Given the description of an element on the screen output the (x, y) to click on. 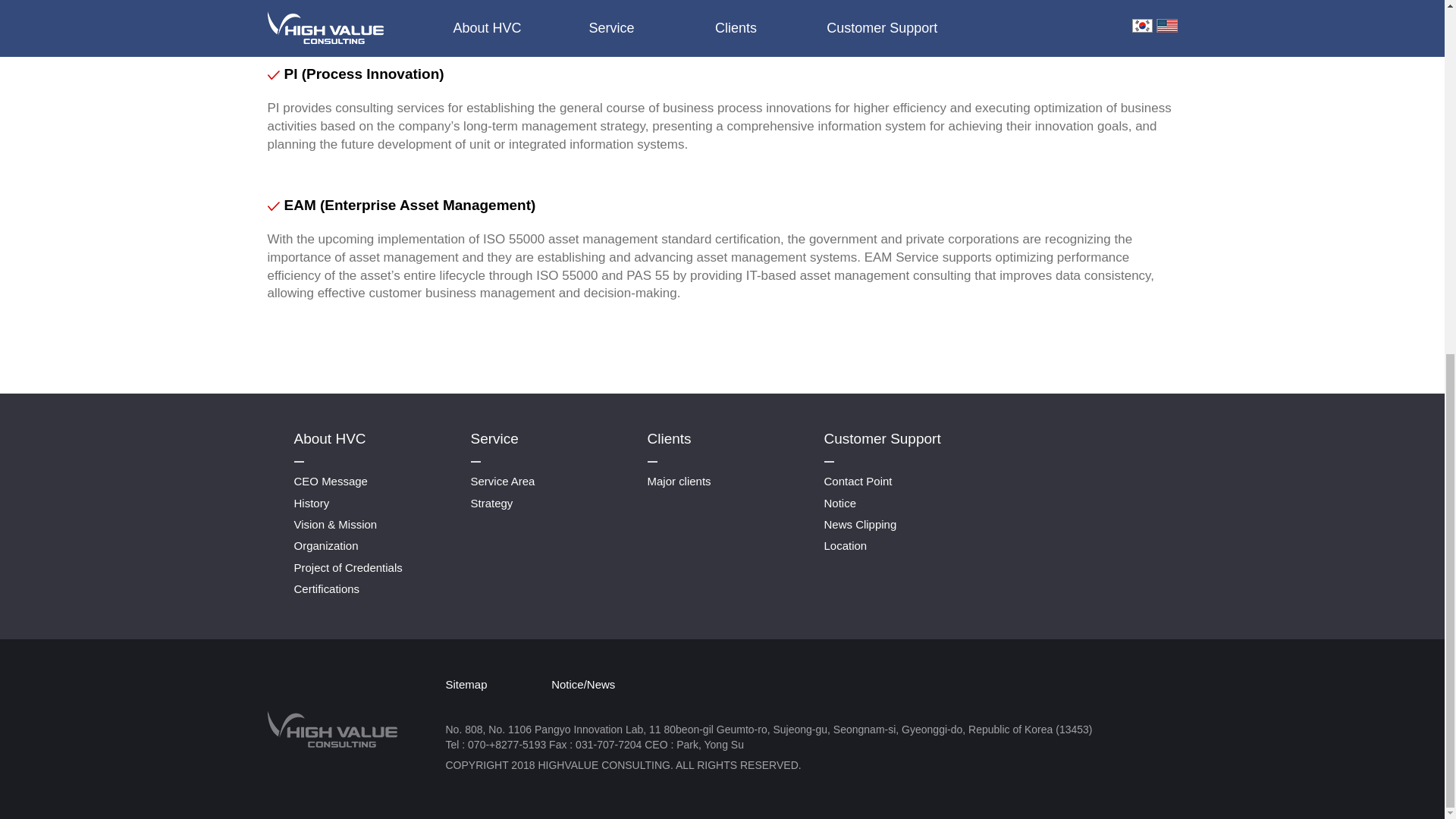
Organization (326, 545)
Sitemap (466, 684)
Notice (840, 502)
News Clipping (860, 523)
Location (845, 545)
Service Area (502, 481)
History (312, 502)
CEO Message (331, 481)
Project of Credentials (348, 567)
Certifications (326, 588)
